Given the description of an element on the screen output the (x, y) to click on. 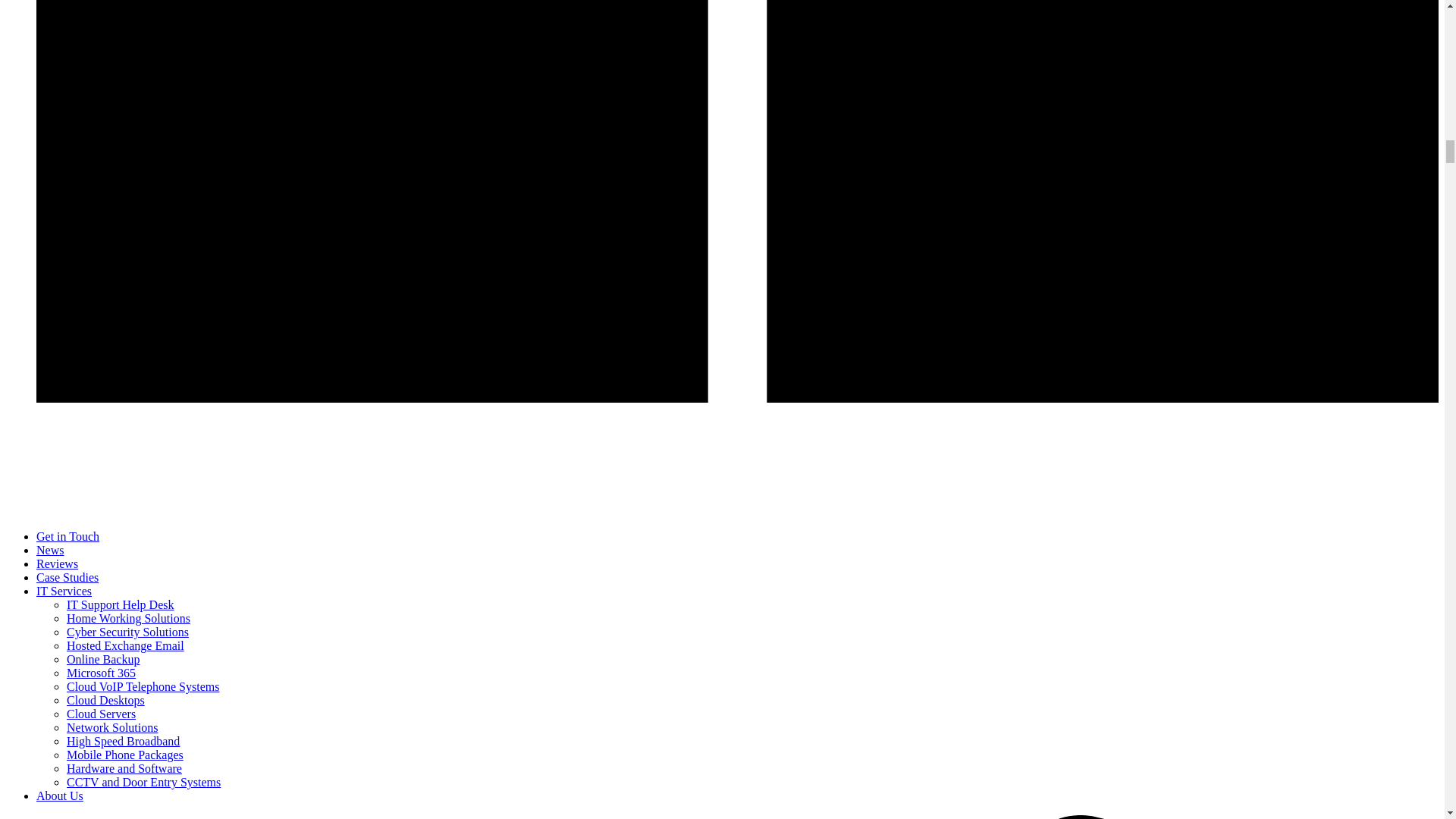
Reviews (57, 563)
IT Services (63, 590)
Get in Touch (67, 535)
News (50, 549)
Case Studies (67, 576)
